Given the description of an element on the screen output the (x, y) to click on. 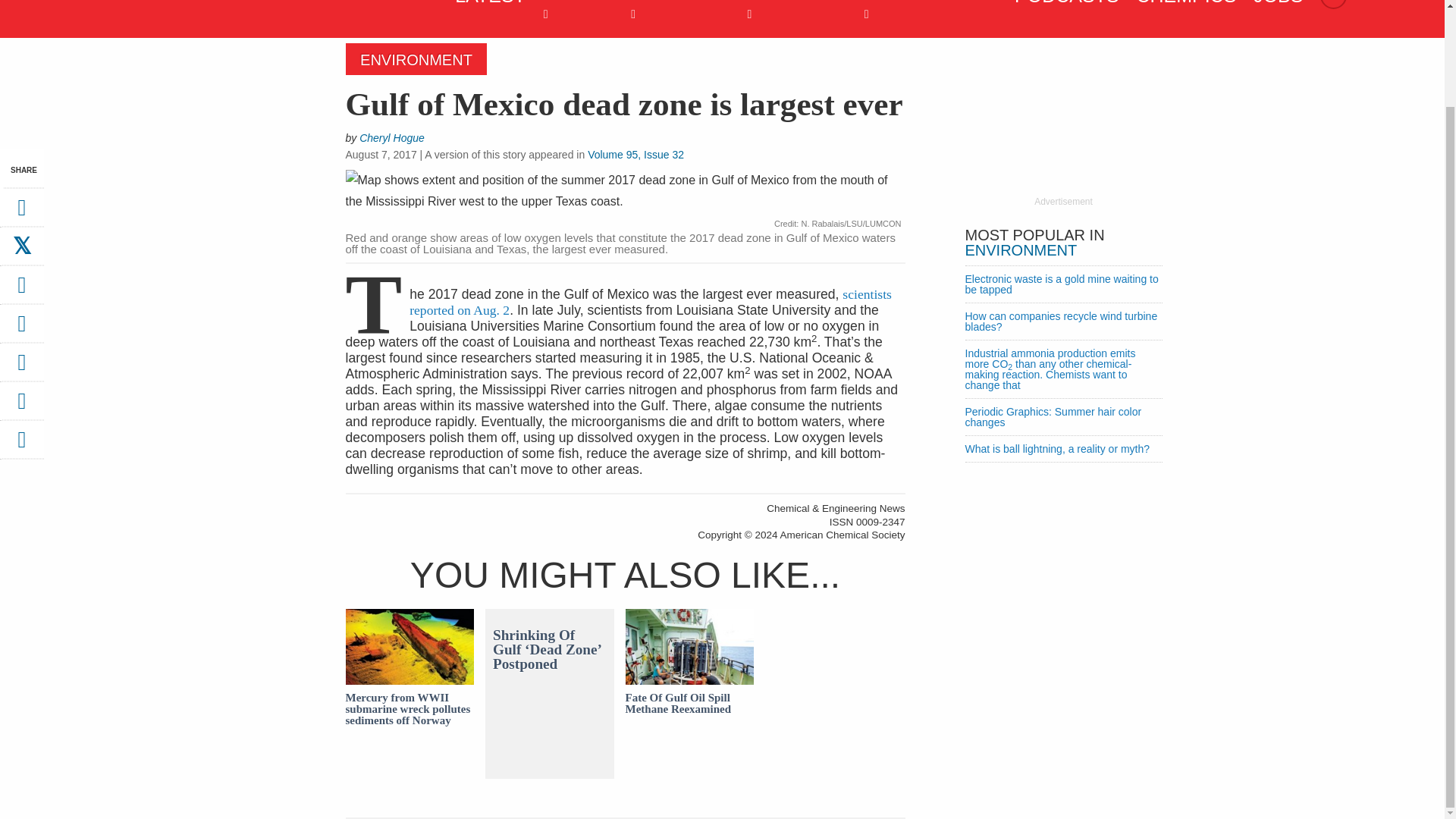
TOPICS (573, 16)
LATEST (485, 7)
scientists report from NOAA (650, 301)
WeChat (21, 367)
